Given the description of an element on the screen output the (x, y) to click on. 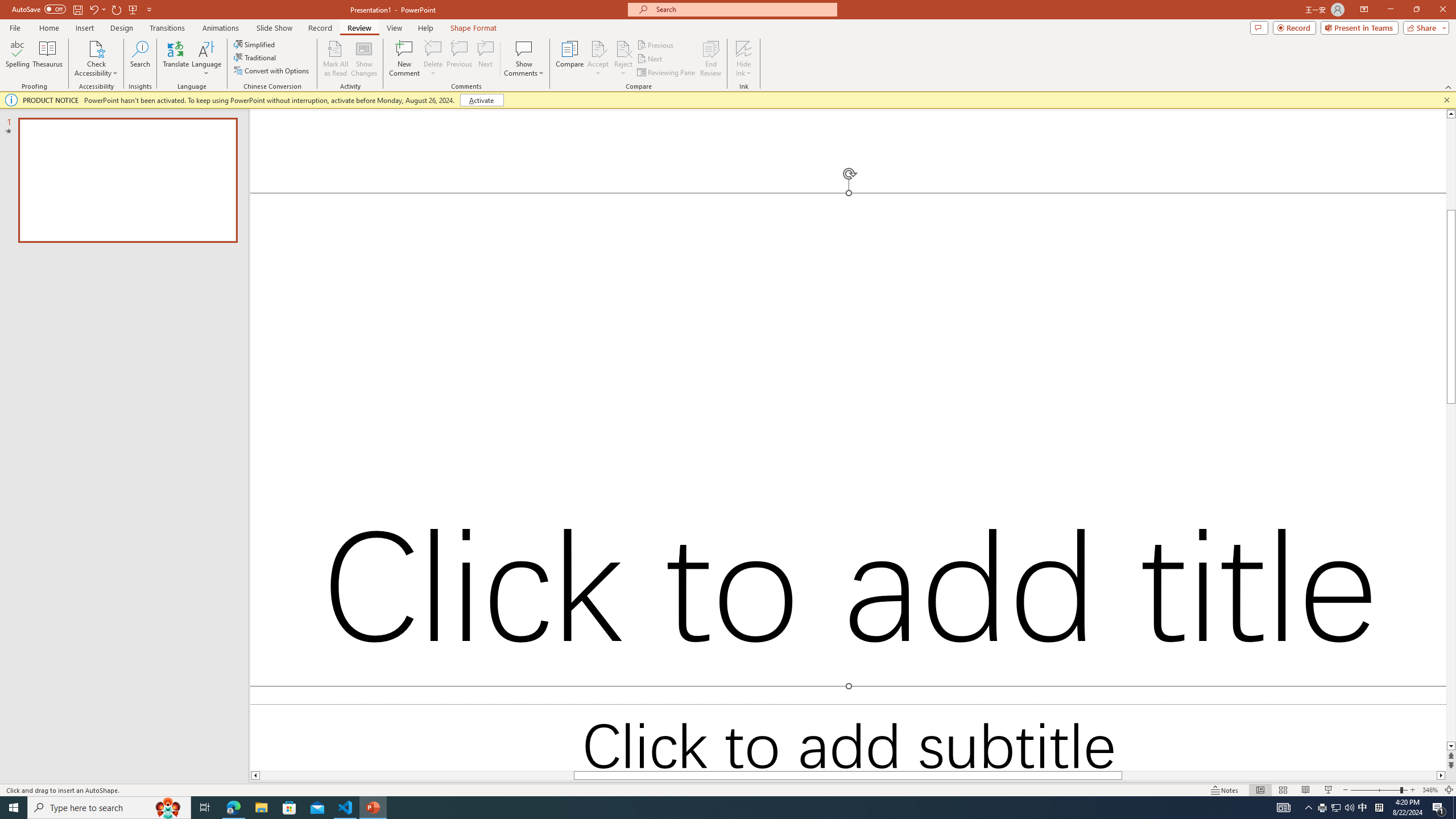
Reviewing Pane (666, 72)
Show Changes (363, 58)
Close this message (1446, 99)
